Given the description of an element on the screen output the (x, y) to click on. 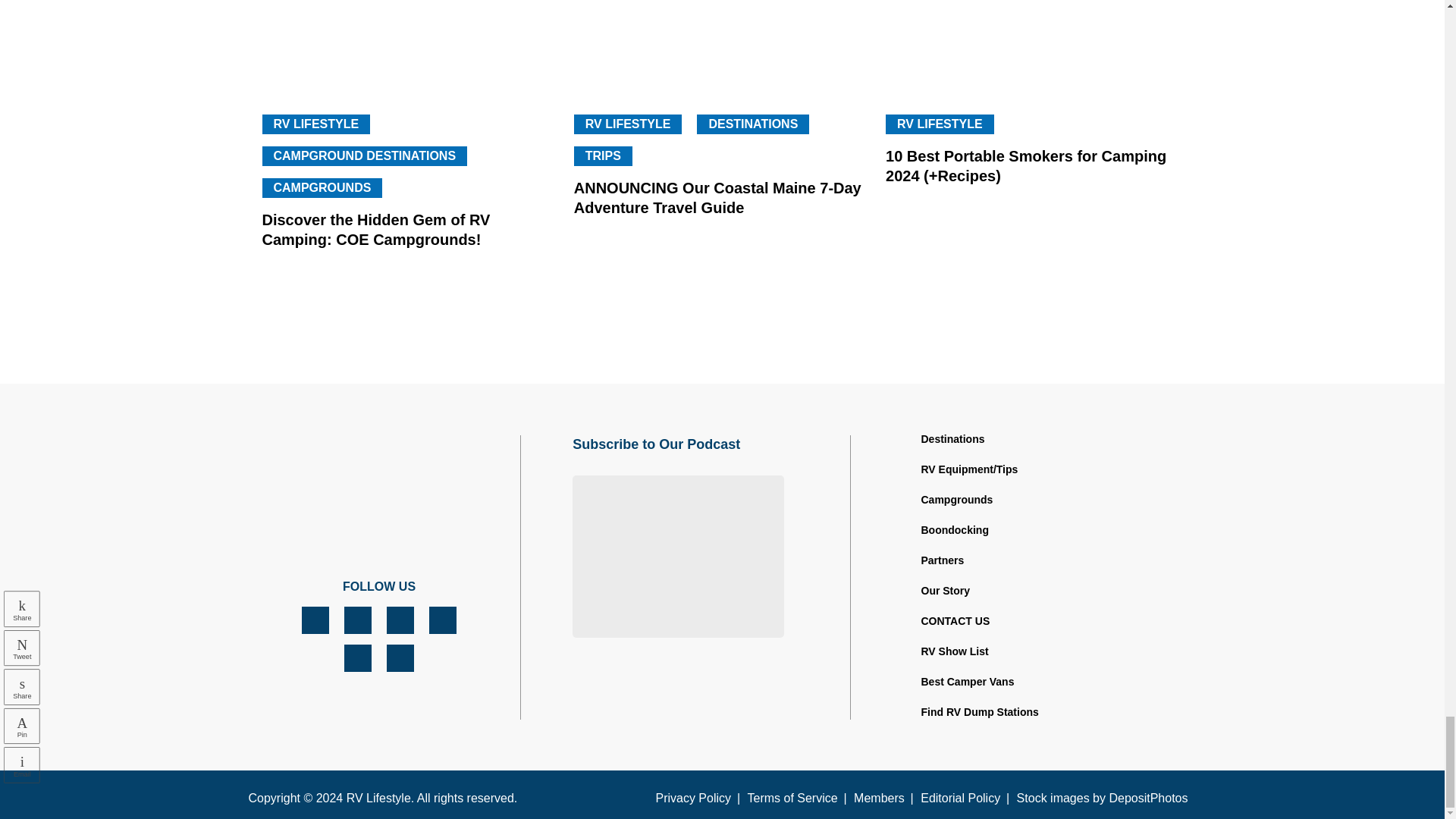
Discover the Hidden Gem of RV Camping: COE Campgrounds! 4 (410, 46)
ANNOUNCING Our Coastal Maine 7-Day Adventure Travel Guide 5 (721, 46)
